Given the description of an element on the screen output the (x, y) to click on. 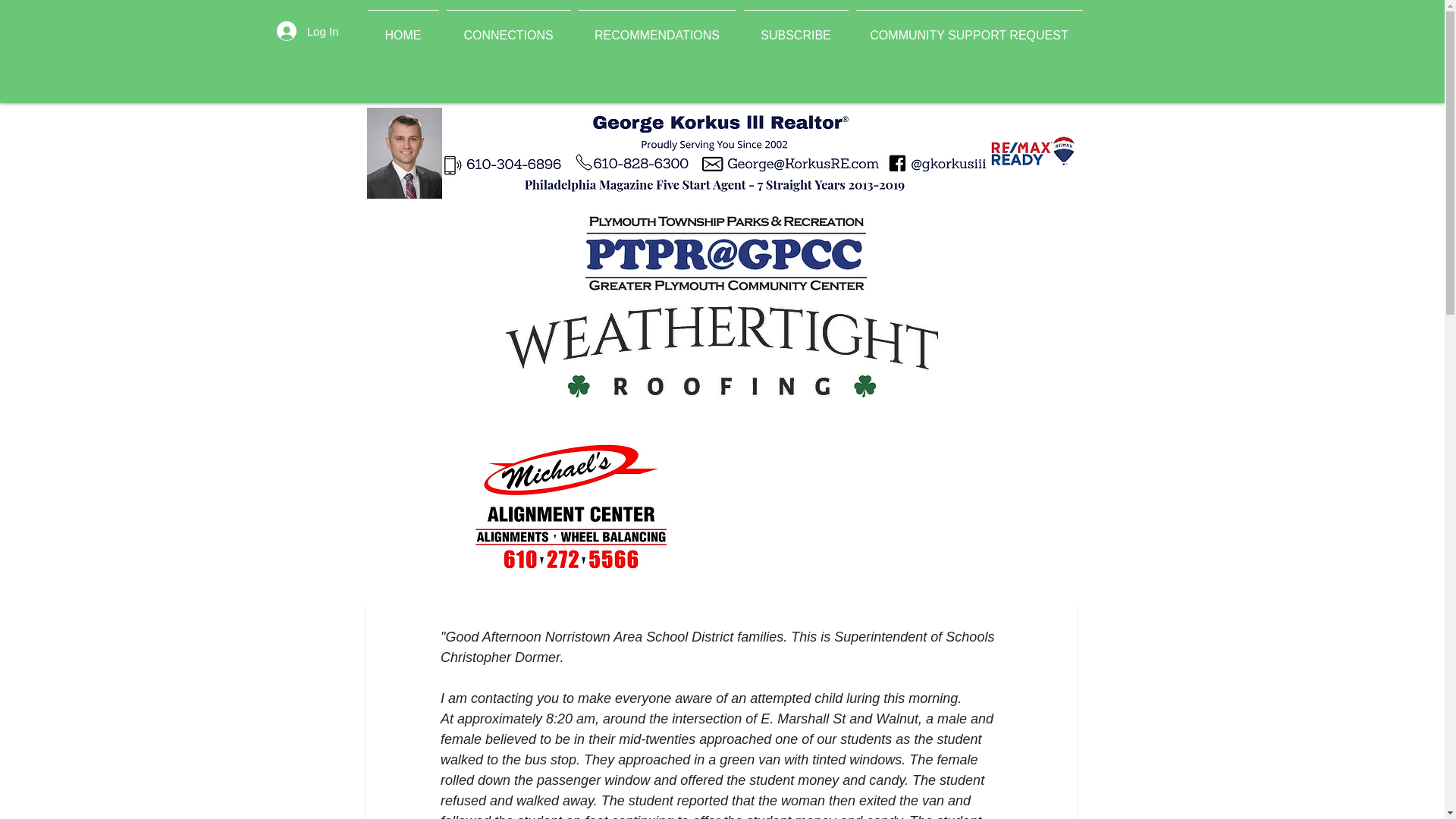
SUBSCRIBE (795, 28)
CONNECTIONS (508, 28)
RECOMMENDATIONS (657, 28)
Log In (307, 30)
Bridgeport (668, 133)
Sep 20, 2019 (642, 236)
Ambler (454, 133)
Closing (820, 133)
COMMUNITY SUPPORT REQUEST (968, 28)
Auctions (591, 133)
